Given the description of an element on the screen output the (x, y) to click on. 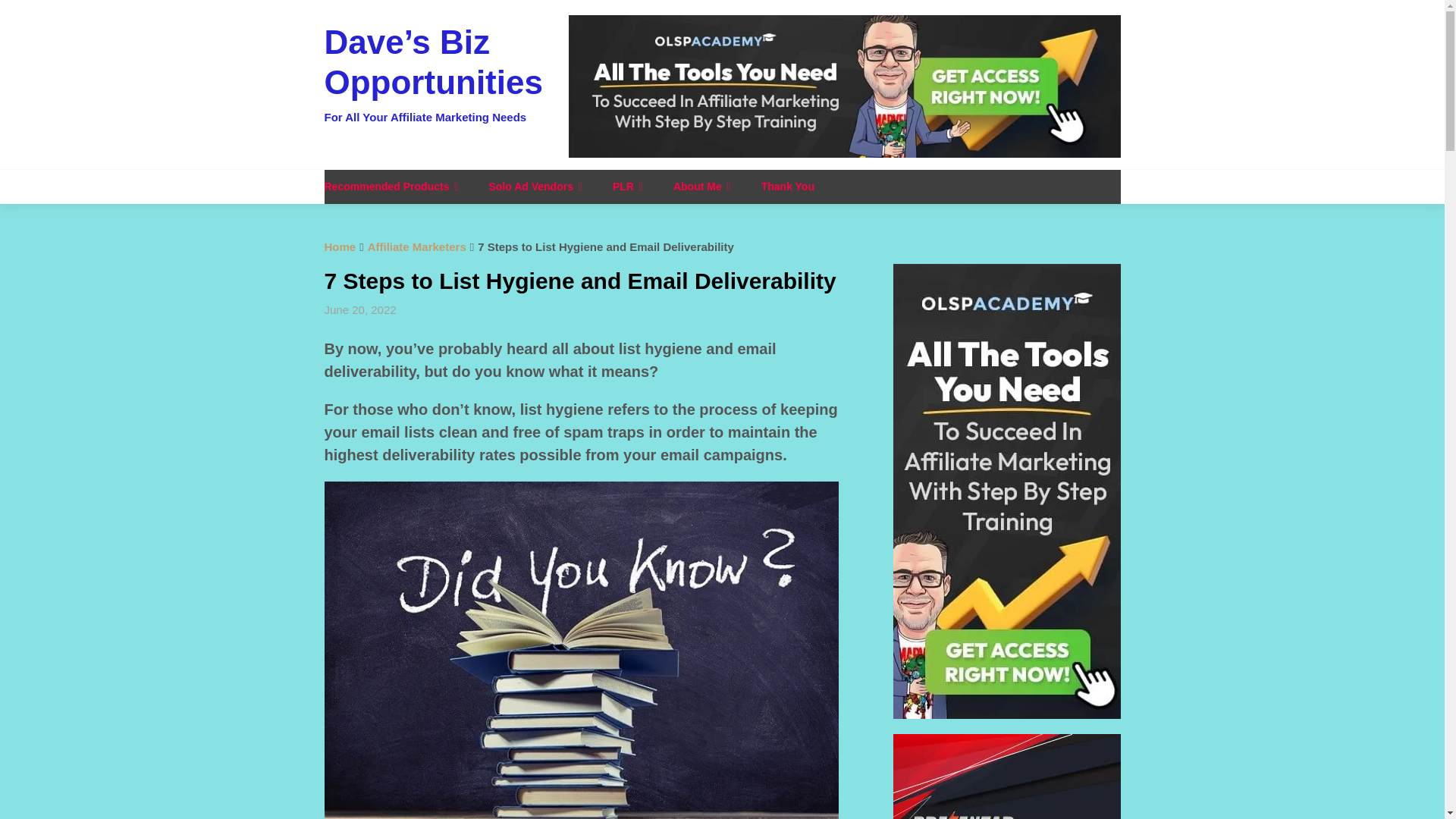
PLR (627, 186)
Home (340, 246)
Recommended Products (399, 186)
Solo Ad Vendors (534, 186)
Thank You (787, 186)
About Me (701, 186)
Affiliate Marketers (416, 246)
